Given the description of an element on the screen output the (x, y) to click on. 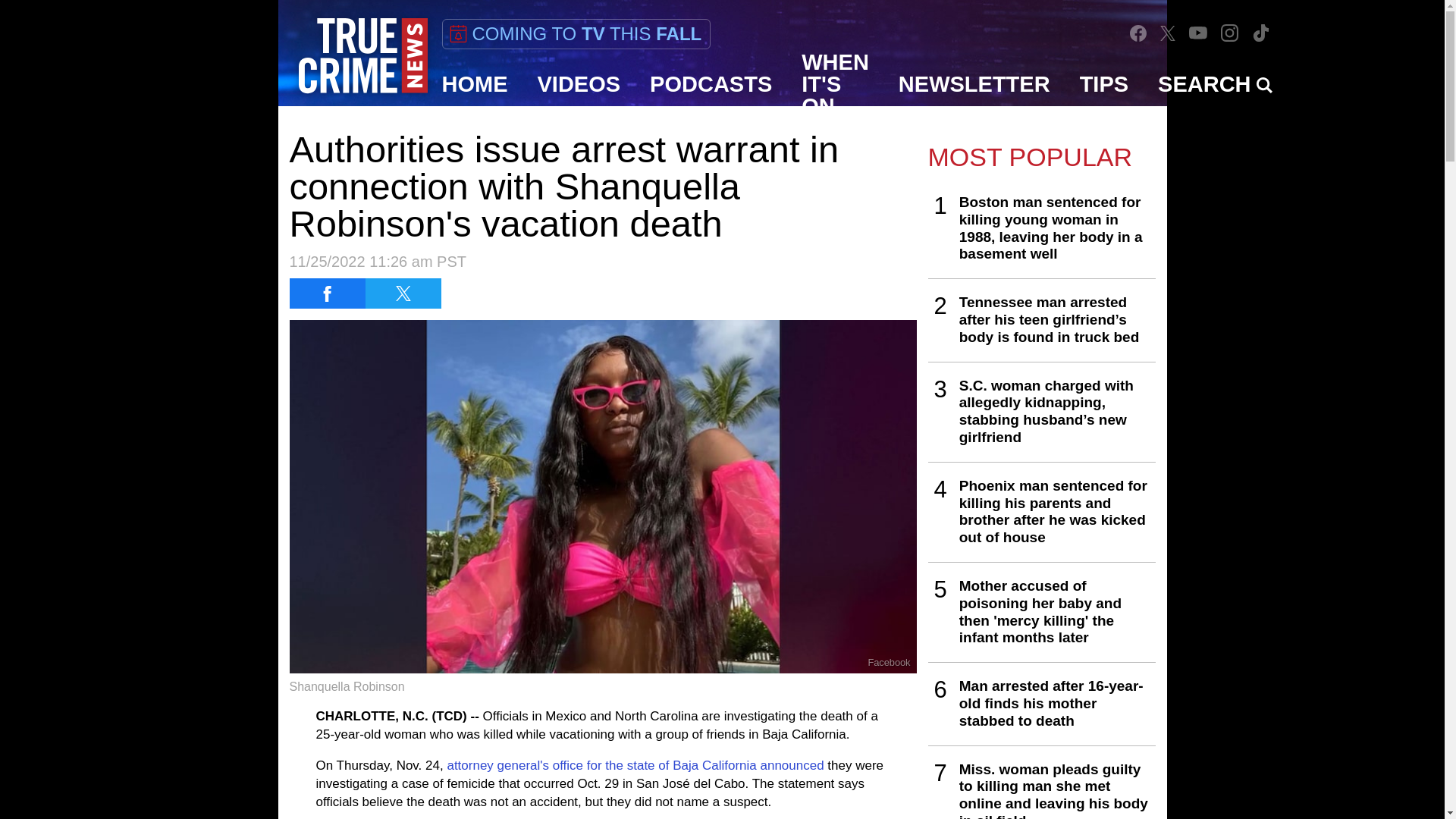
Twitter (1167, 32)
Facebook (1137, 33)
True Crime News (363, 56)
TikTok (1260, 32)
COMING TO TV THIS FALL (575, 33)
Instagram (1229, 32)
TikTok (1260, 32)
TIPS (1103, 84)
VIDEOS (579, 84)
YouTube (1198, 32)
YouTube (1198, 32)
NEWSLETTER (974, 84)
PODCASTS (710, 84)
True Crime News (363, 56)
Facebook (1138, 32)
